Given the description of an element on the screen output the (x, y) to click on. 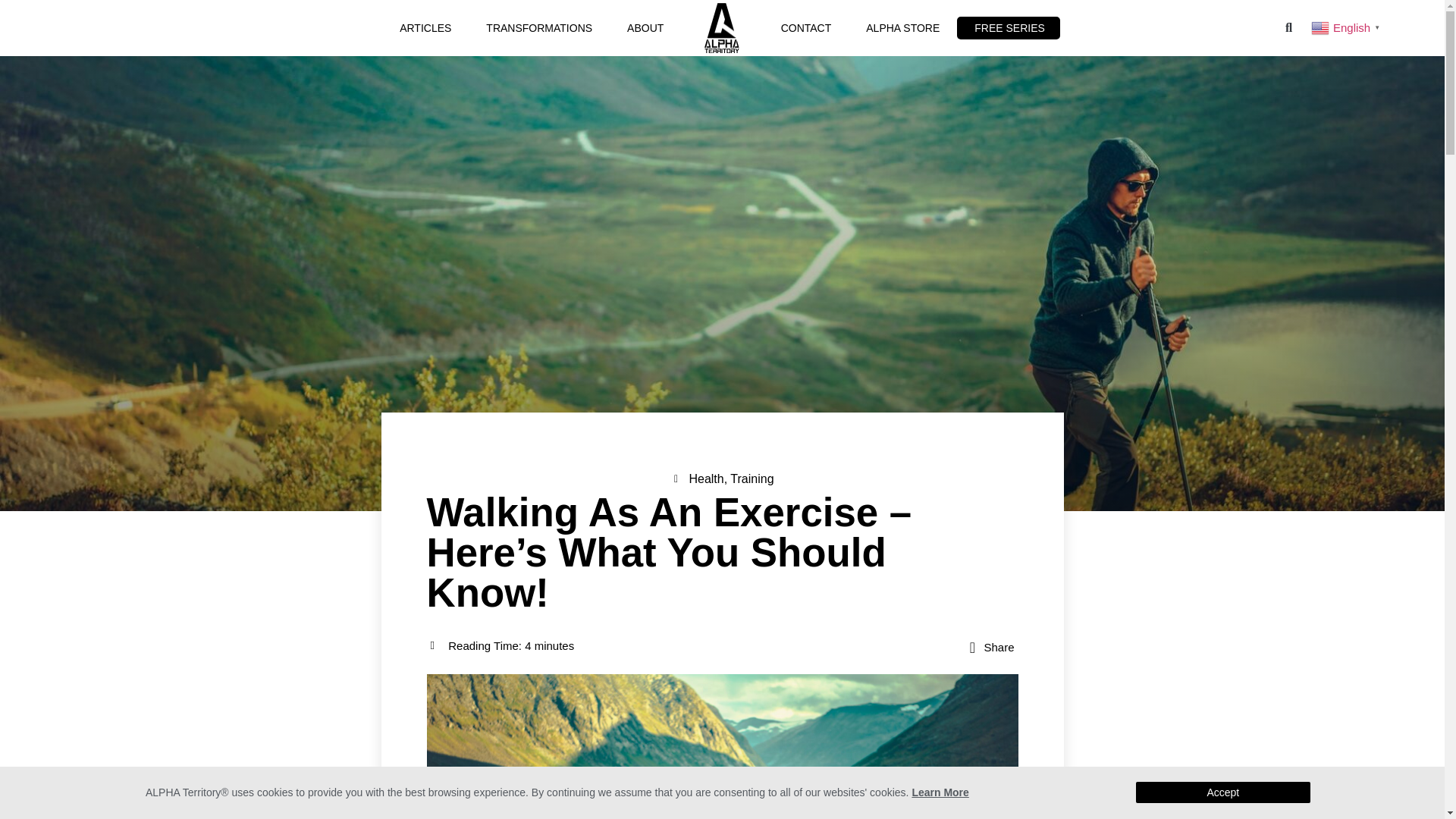
CONTACT (806, 27)
TRANSFORMATIONS (538, 27)
ALPHA STORE (902, 27)
FREE SERIES (1009, 27)
ARTICLES (424, 27)
ABOUT (644, 27)
